Given the description of an element on the screen output the (x, y) to click on. 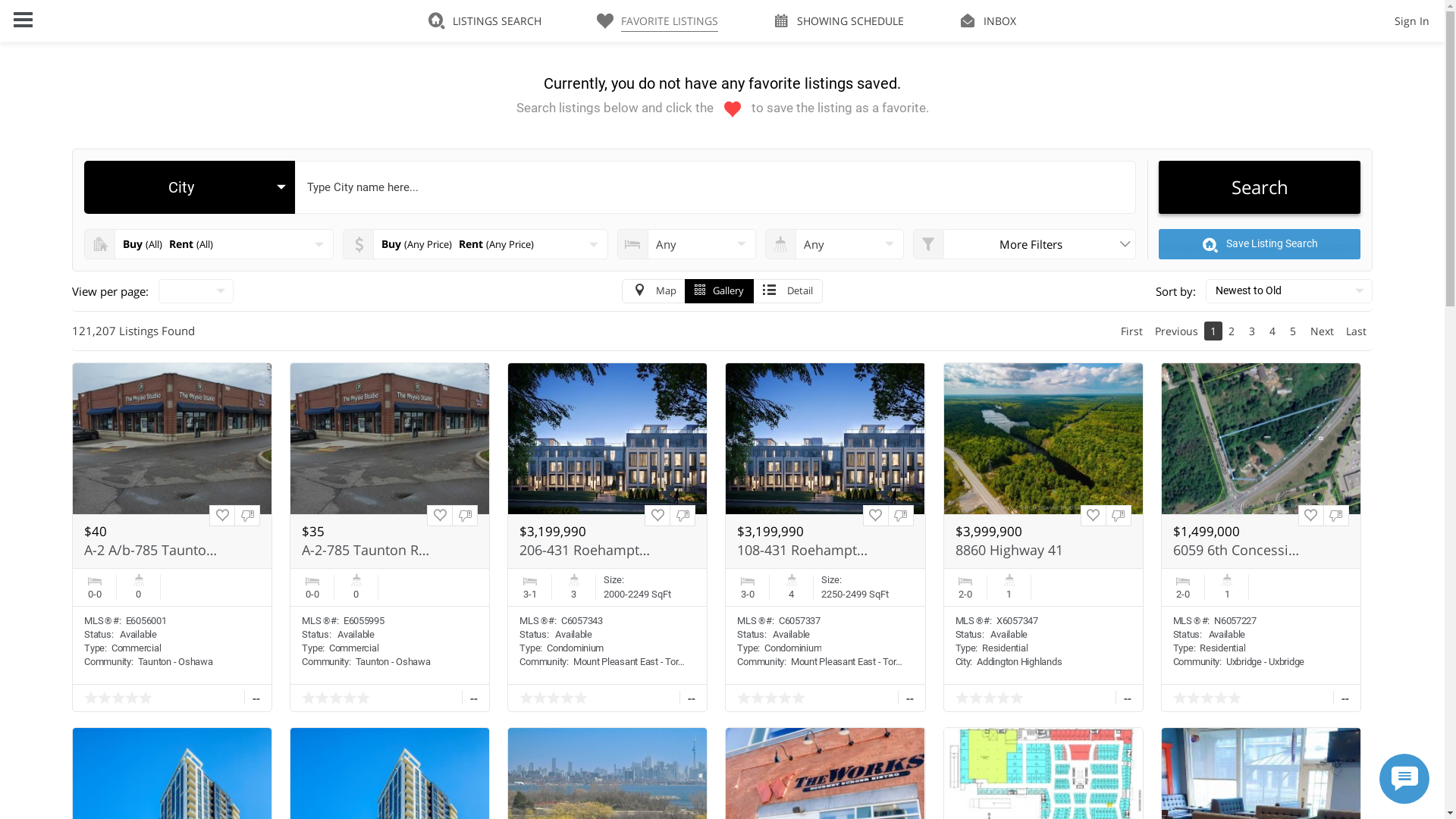
108-431 Roehampton Ave Element type: text (803, 549)
SHOWING SCHEDULE Element type: text (837, 20)
A-2 A/b-785 Taunton Rd E Element type: text (150, 549)
206-431 Roehampton Ave Element type: text (585, 549)
Details Element type: hover (389, 536)
Dislike Element type: hover (682, 515)
Like Element type: hover (222, 515)
Map Element type: text (653, 291)
Save Listing Search Element type: text (1258, 244)
Any Element type: text (686, 244)
Dislike Element type: hover (1118, 515)
Newest to Old Element type: text (1288, 291)
Dislike Element type: hover (1336, 515)
Details Element type: hover (1042, 536)
Like Element type: hover (875, 515)
  Element type: text (195, 291)
INBOX Element type: text (987, 20)
Live Chat Element type: hover (1404, 778)
LISTINGS SEARCH Element type: text (484, 20)
Dislike Element type: hover (247, 515)
FAVORITE LISTINGS Element type: text (657, 20)
Details Element type: hover (171, 536)
Like Element type: hover (657, 515)
Like Element type: hover (1093, 515)
6059 6th Concession Rd Element type: text (1239, 549)
Like Element type: hover (439, 515)
8860 Highway 41 Element type: text (1021, 549)
Dislike Element type: hover (464, 515)
Details Element type: hover (824, 536)
City Element type: text (189, 186)
Detail Element type: text (787, 291)
Any Element type: text (834, 244)
Gallery Element type: text (718, 291)
Details Element type: hover (1260, 536)
Search Element type: text (1258, 186)
Dislike Element type: hover (900, 515)
Like Element type: hover (1311, 515)
More Filters Element type: text (1024, 244)
Details Element type: hover (607, 536)
A-2-785 Taunton Rd E Element type: text (368, 549)
